Given the description of an element on the screen output the (x, y) to click on. 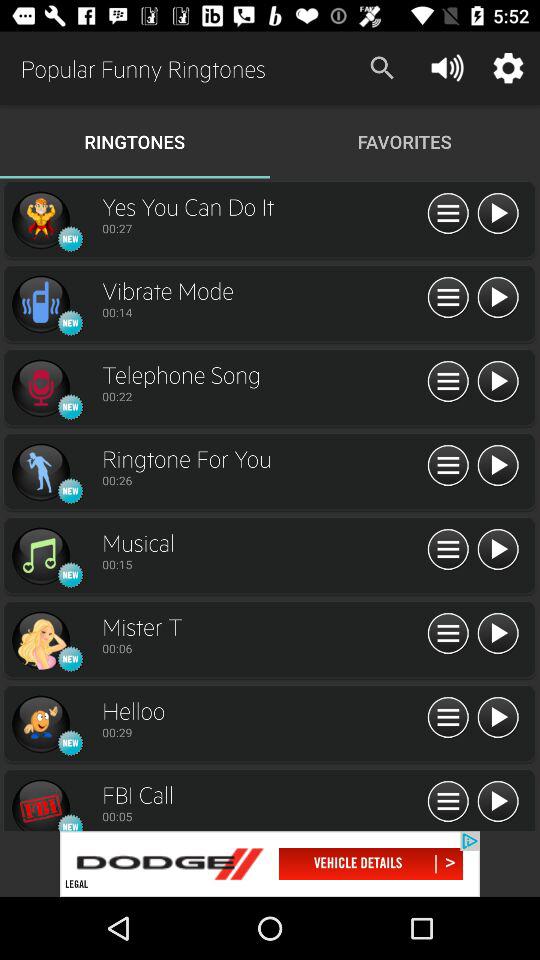
vibrate mode (40, 304)
